Given the description of an element on the screen output the (x, y) to click on. 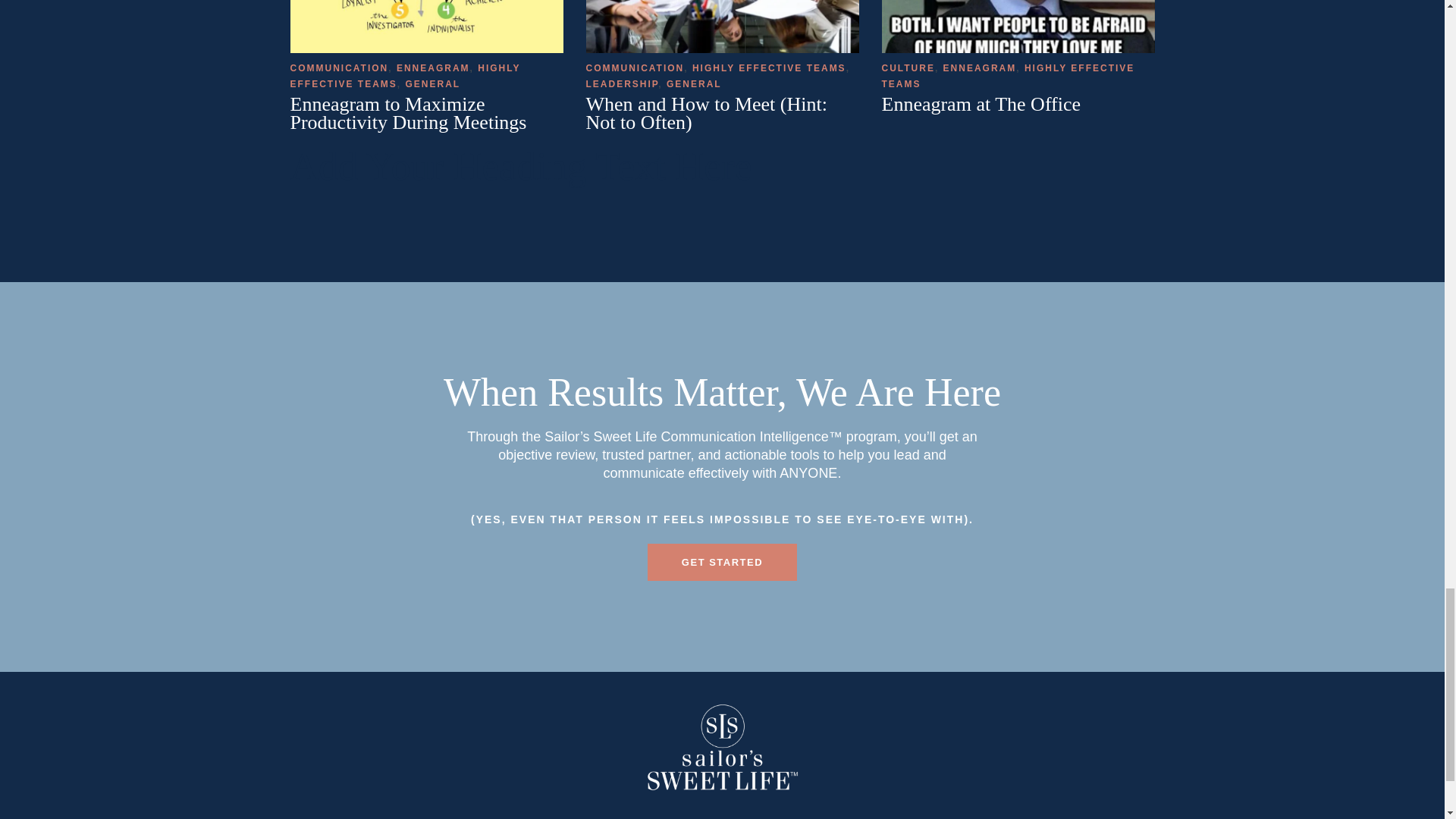
Enneagram to Maximize Productivity During Meetings (407, 113)
COMMUNICATION (338, 68)
ENNEAGRAM (433, 68)
HIGHLY EFFECTIVE TEAMS (404, 75)
GENERAL (433, 83)
